Given the description of an element on the screen output the (x, y) to click on. 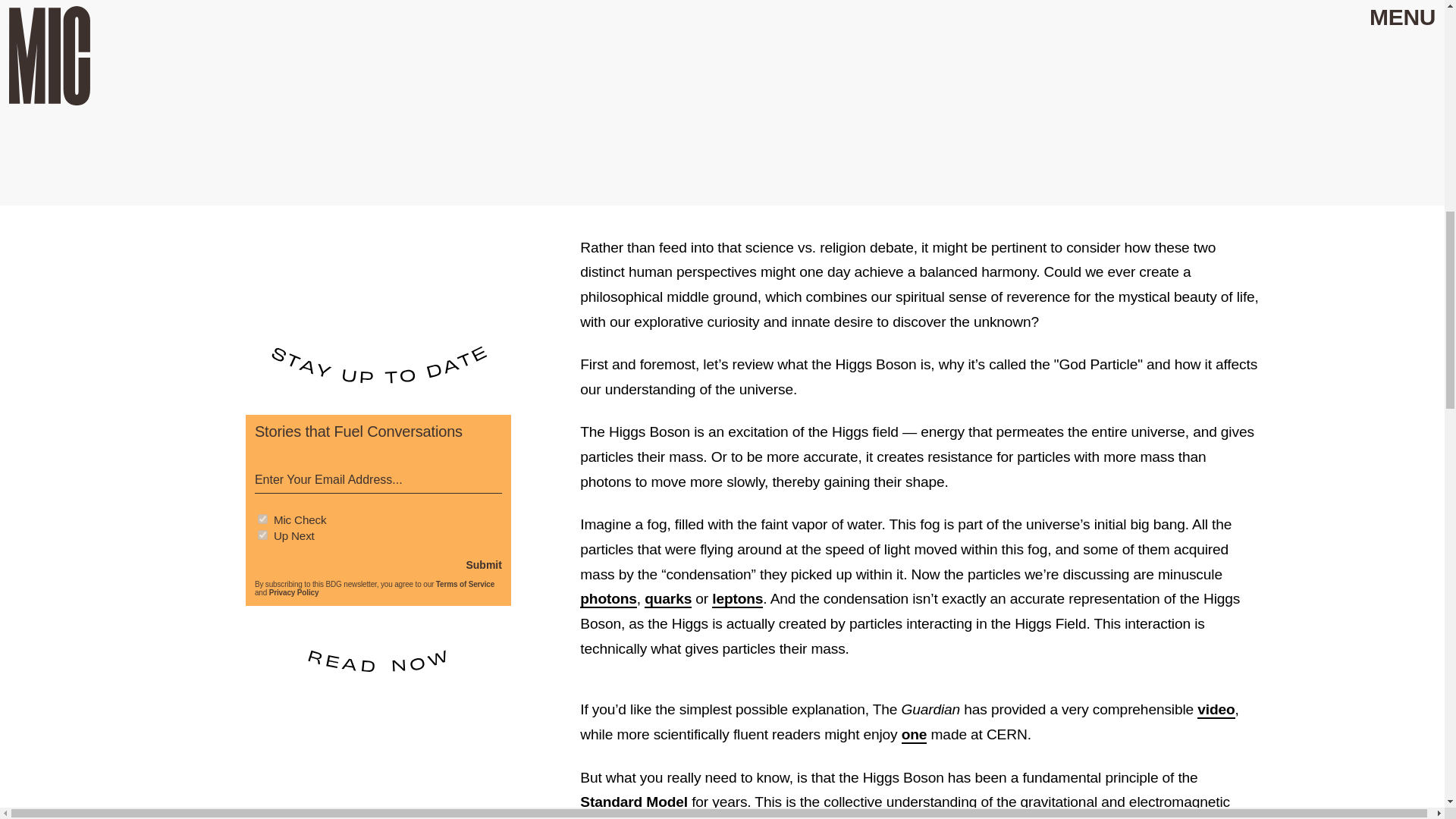
Privacy Policy (293, 592)
quarks (668, 599)
leptons (736, 599)
photons (608, 599)
Submit (482, 564)
Standard Model (633, 802)
Terms of Service (465, 583)
video (1215, 710)
one (914, 734)
